Given the description of an element on the screen output the (x, y) to click on. 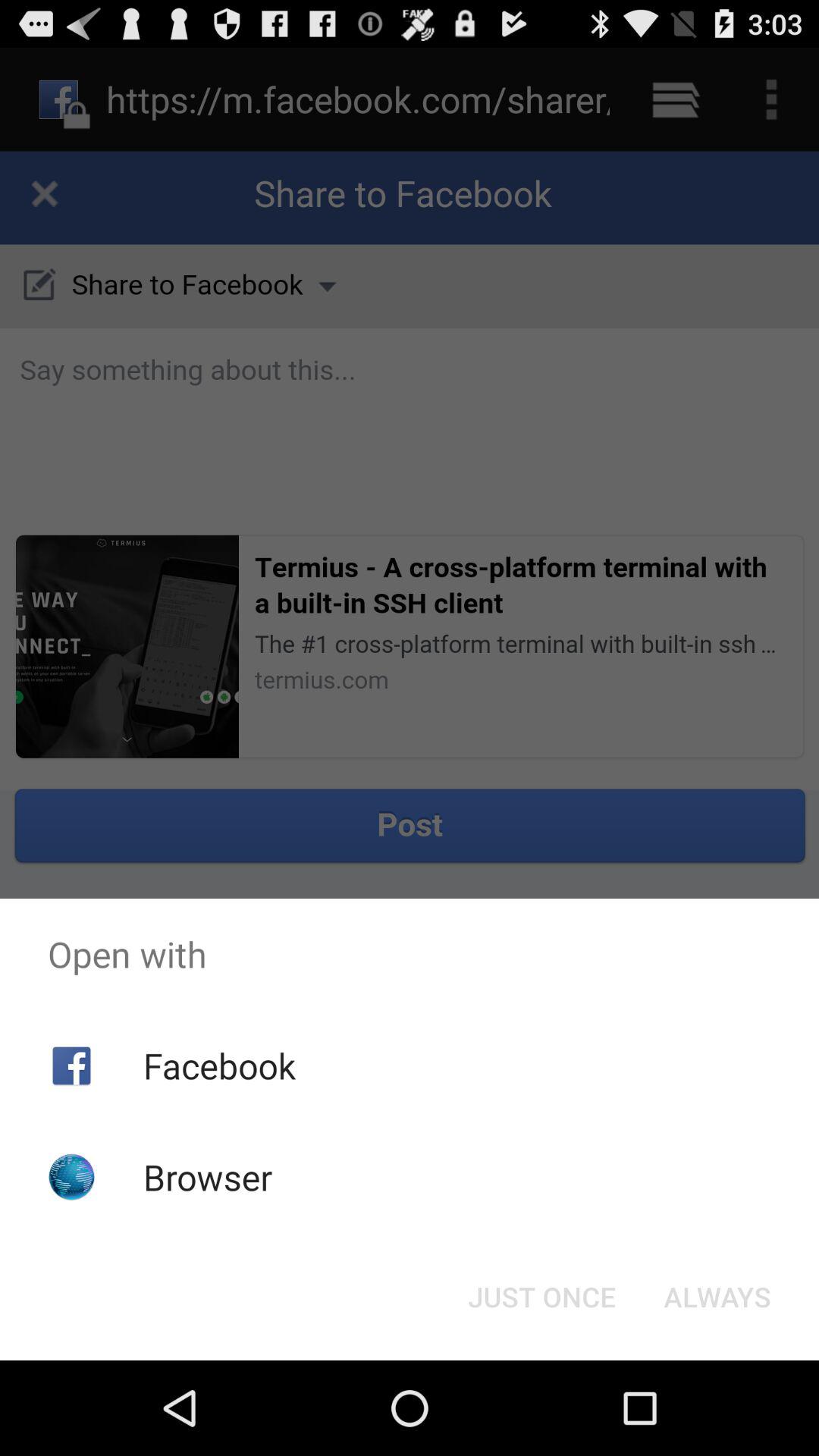
swipe until the just once item (541, 1296)
